Given the description of an element on the screen output the (x, y) to click on. 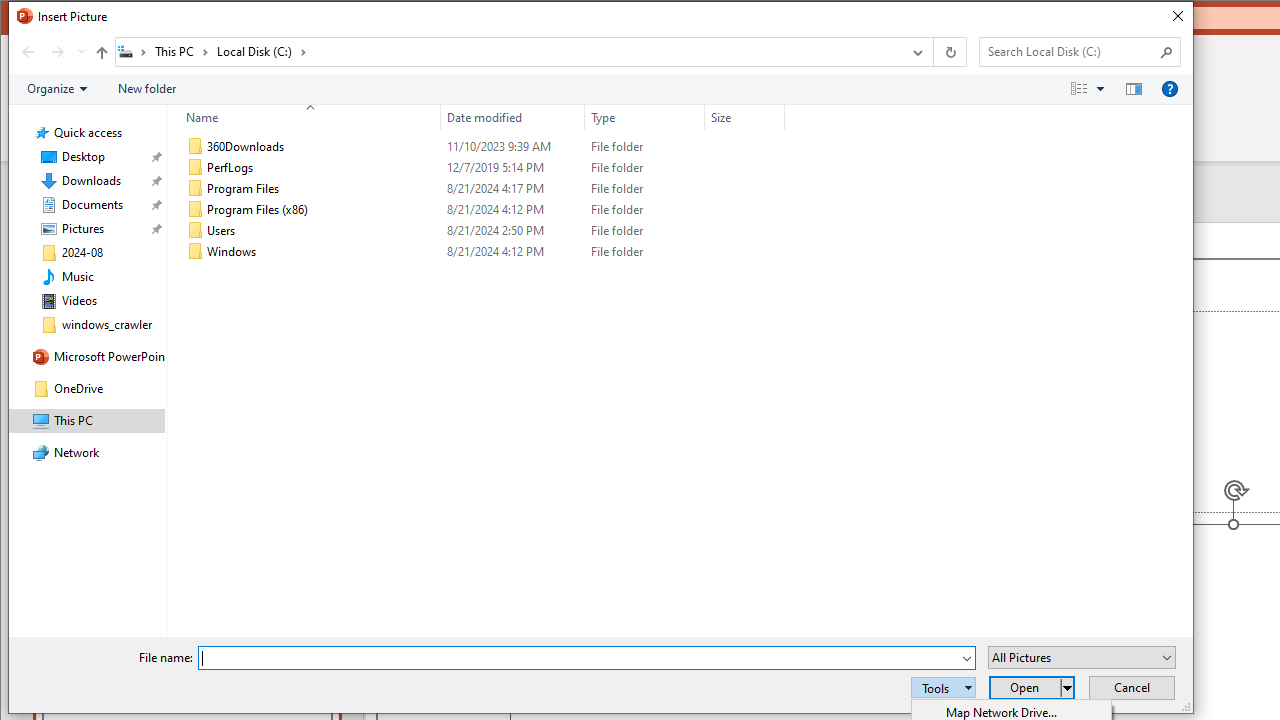
Name (304, 117)
Back (Alt + Left Arrow) (27, 51)
Size (744, 117)
Tools (943, 687)
Previous Locations (916, 51)
Refresh "Local Disk (C:)" (F5) (949, 51)
This PC (181, 51)
Open (1167, 657)
Cancel (1132, 688)
Search (1166, 51)
Date modified (512, 117)
Preview pane (1134, 89)
Address: C:\ (507, 51)
